Given the description of an element on the screen output the (x, y) to click on. 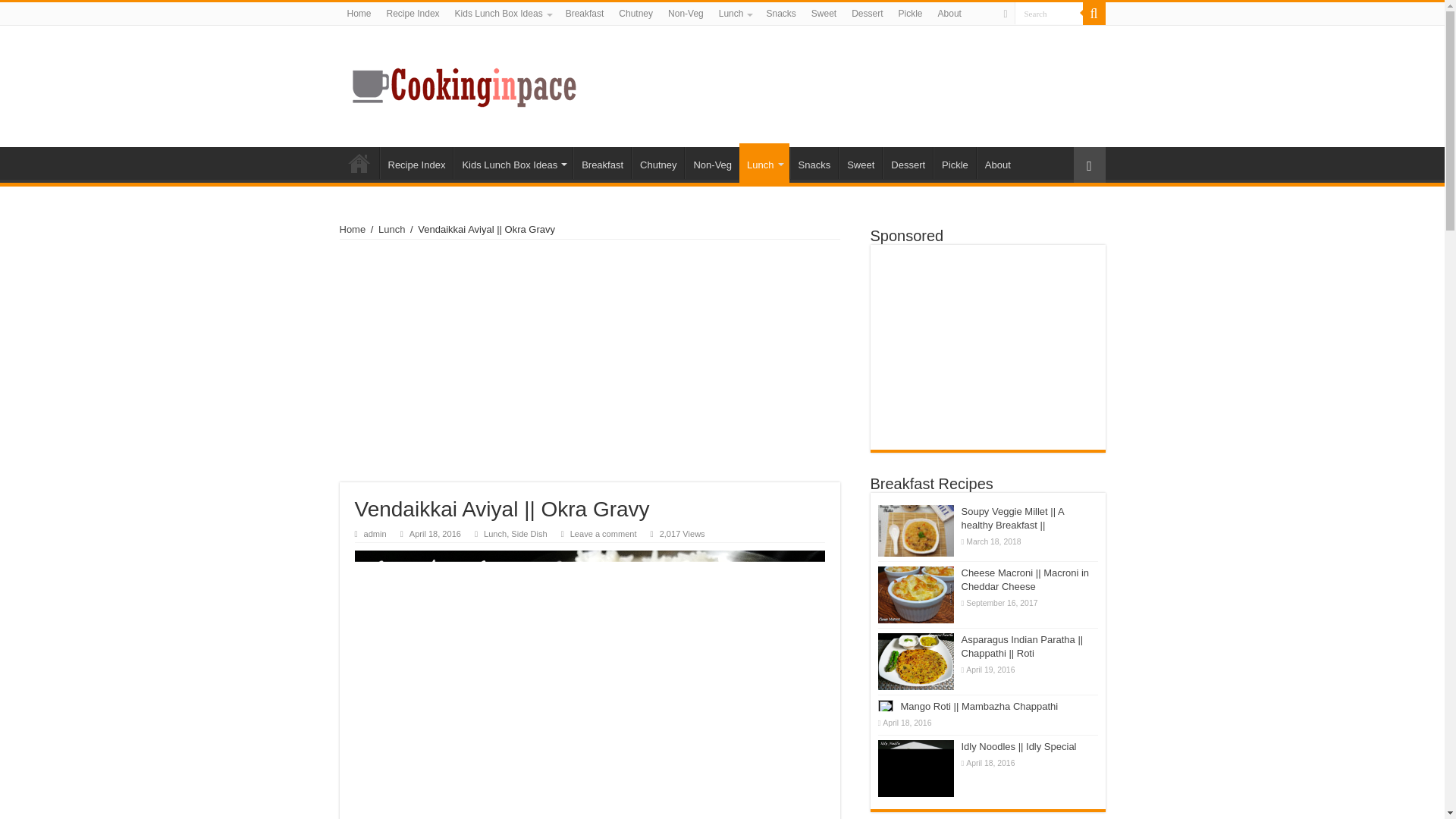
Lunch (734, 13)
Search (1048, 13)
Search (1048, 13)
Recipe Index (412, 13)
Search (1048, 13)
Kids Lunch Box Ideas (501, 13)
About (949, 13)
Sweet (823, 13)
Breakfast (584, 13)
Chutney (636, 13)
